Given the description of an element on the screen output the (x, y) to click on. 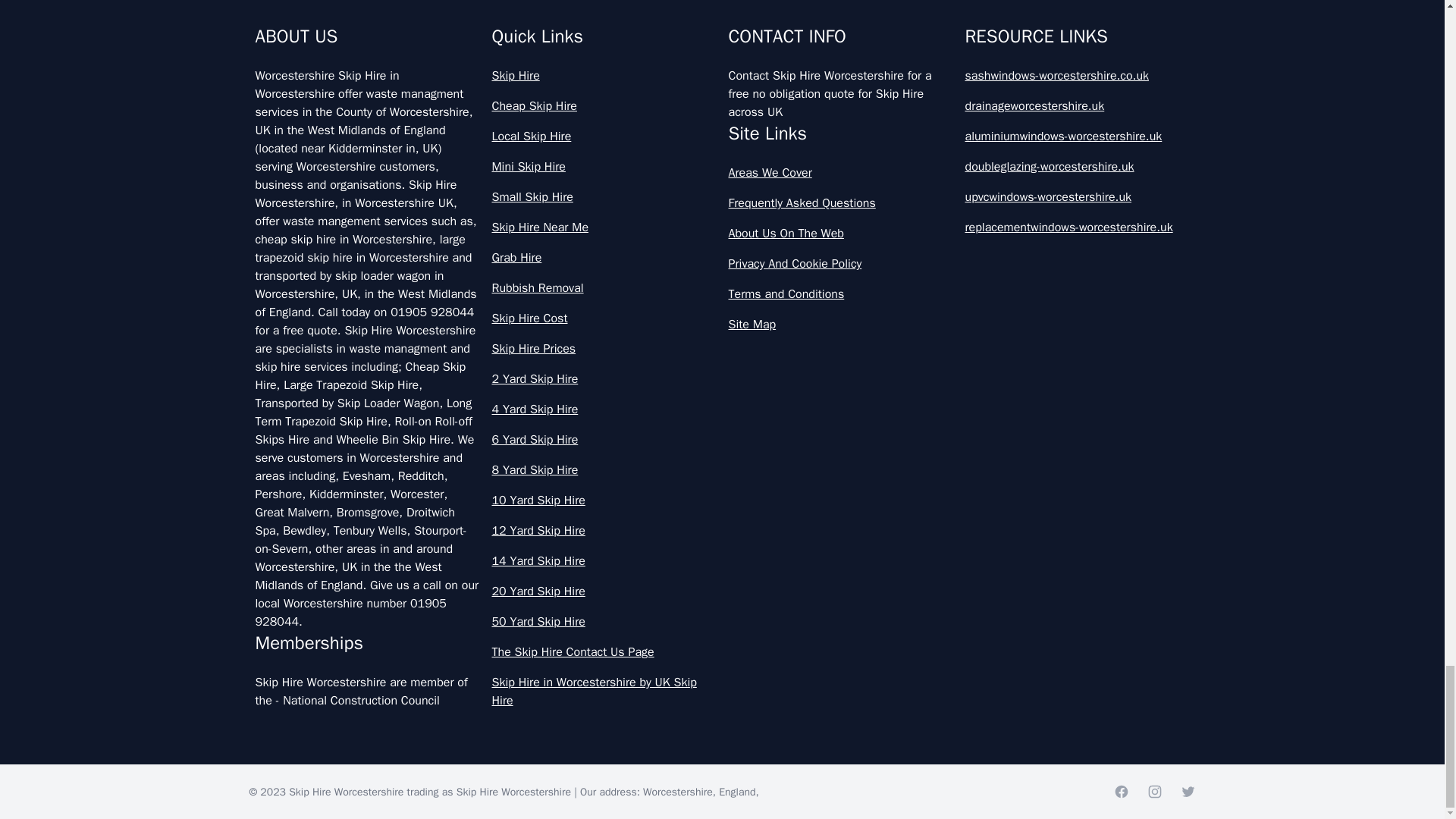
drainageworcestershire.uk (1076, 106)
Local Skip Hire (604, 136)
sashwindows-worcestershire.co.uk (1076, 75)
Grab Hire (604, 257)
Site Map (840, 324)
aluminiumwindows-worcestershire.uk (1076, 136)
upvcwindows-worcestershire.uk (1076, 197)
National Construction Council (360, 700)
Rubbish Removal (604, 288)
Cheap Skip Hire (604, 106)
Small Skip Hire (604, 197)
replacementwindows-worcestershire.uk (1076, 227)
Mini Skip Hire (604, 167)
doubleglazing-worcestershire.uk (1076, 167)
Skip Hire Near Me (604, 227)
